Given the description of an element on the screen output the (x, y) to click on. 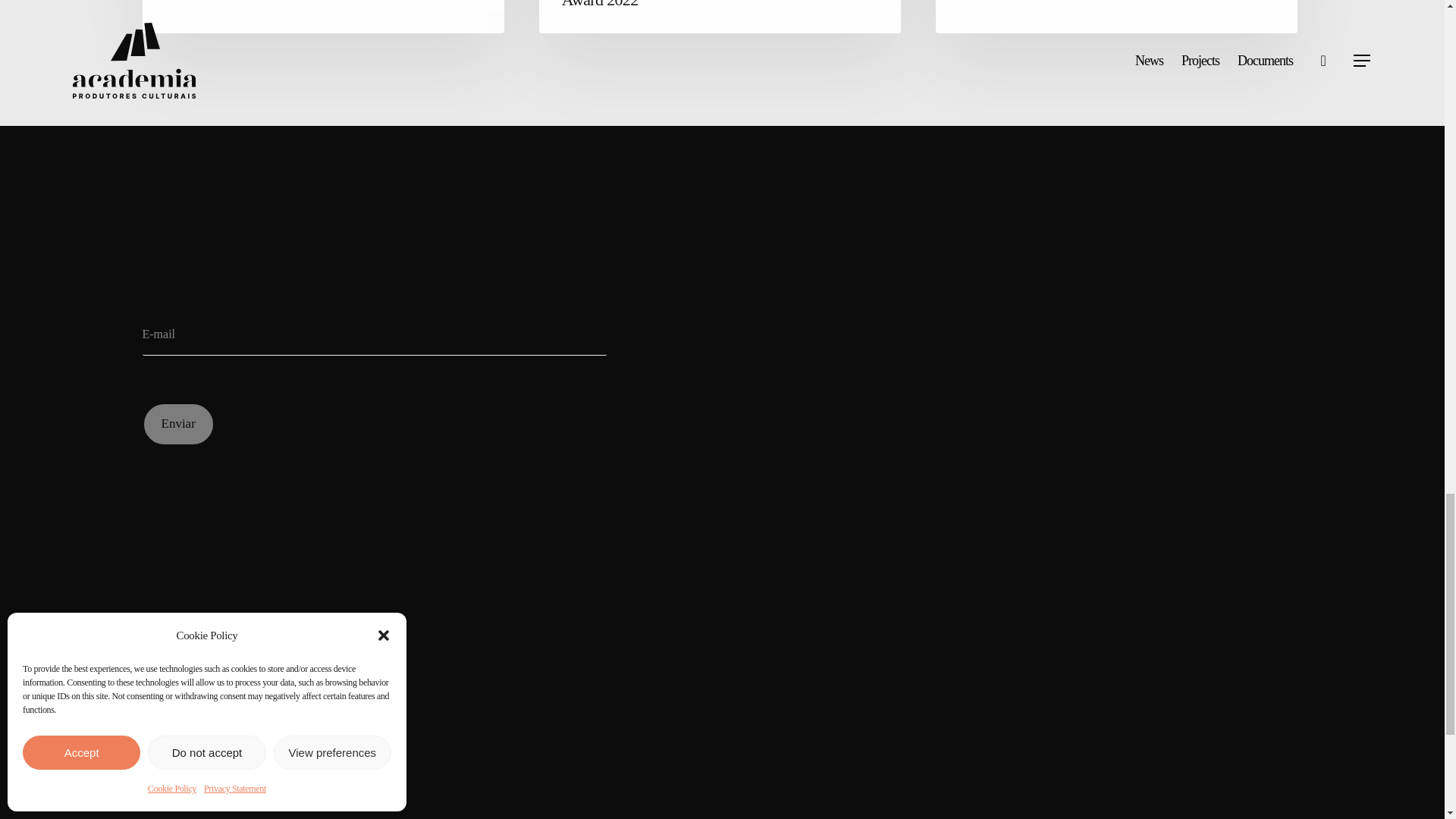
Enviar (178, 423)
